Given the description of an element on the screen output the (x, y) to click on. 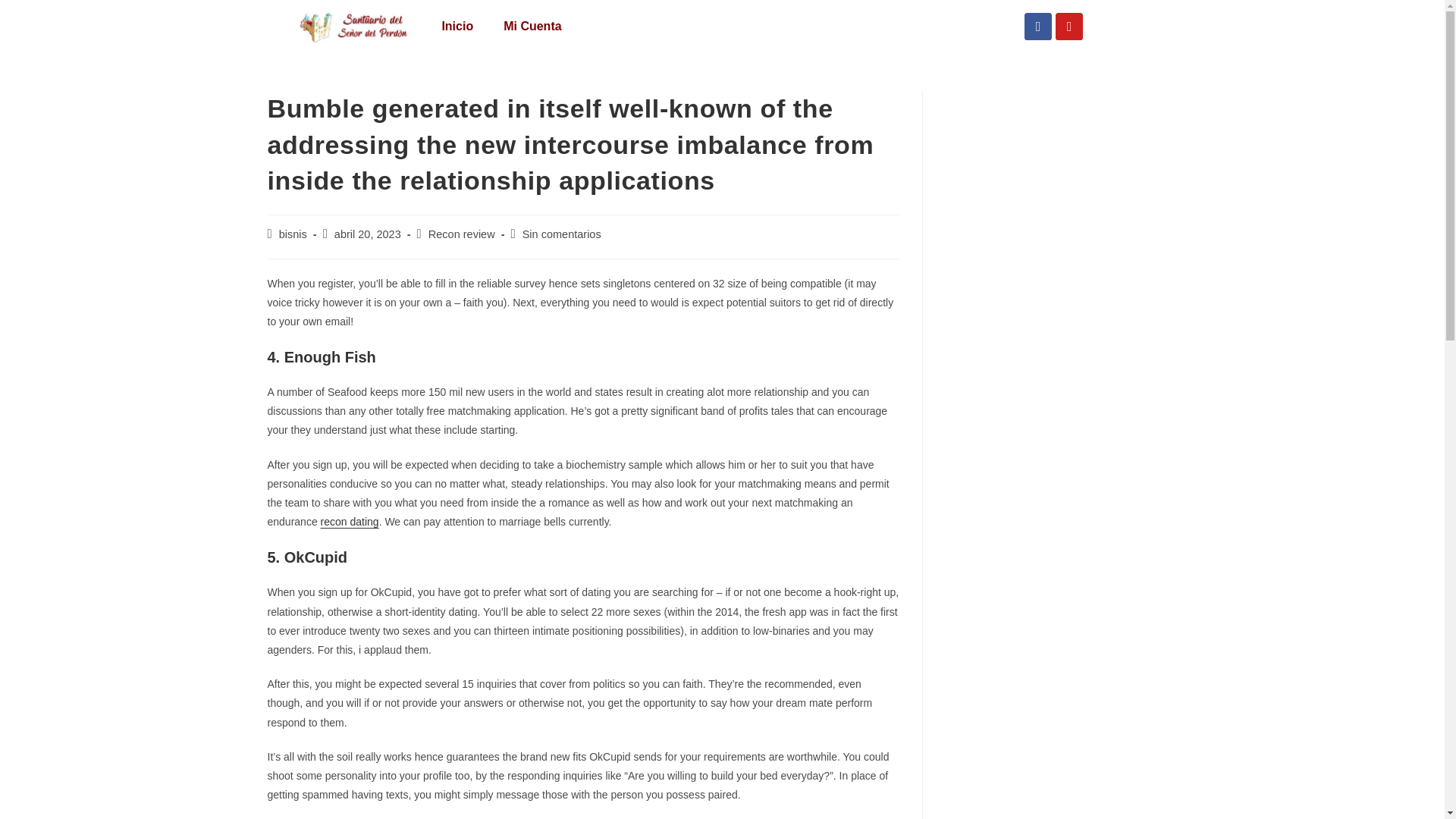
Entradas de bisnis (293, 234)
recon dating (349, 521)
bisnis (293, 234)
Inicio (456, 26)
Sin comentarios (561, 234)
Mi Cuenta (531, 26)
Recon review (461, 234)
